Given the description of an element on the screen output the (x, y) to click on. 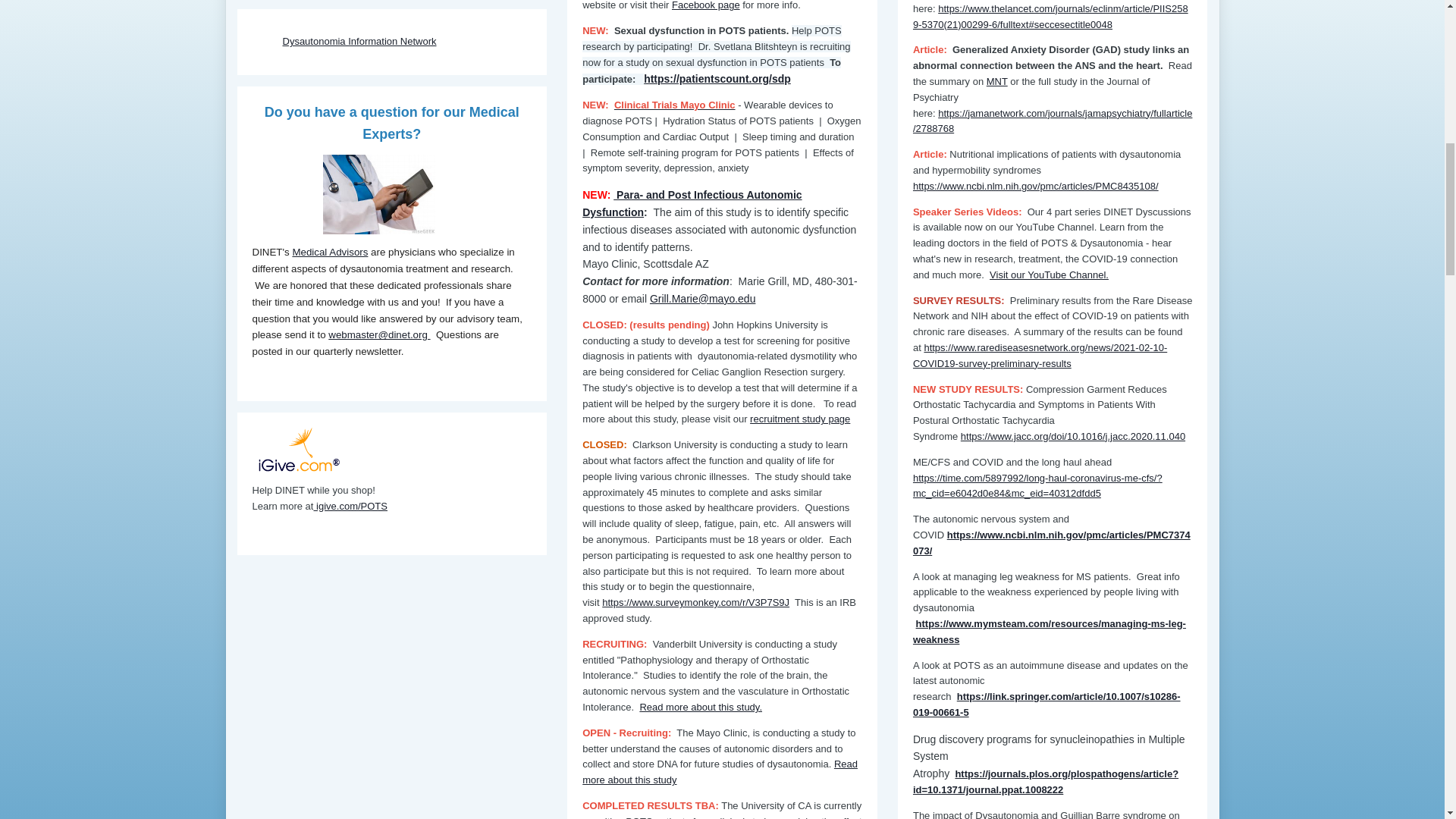
Enlarge image (379, 193)
